Given the description of an element on the screen output the (x, y) to click on. 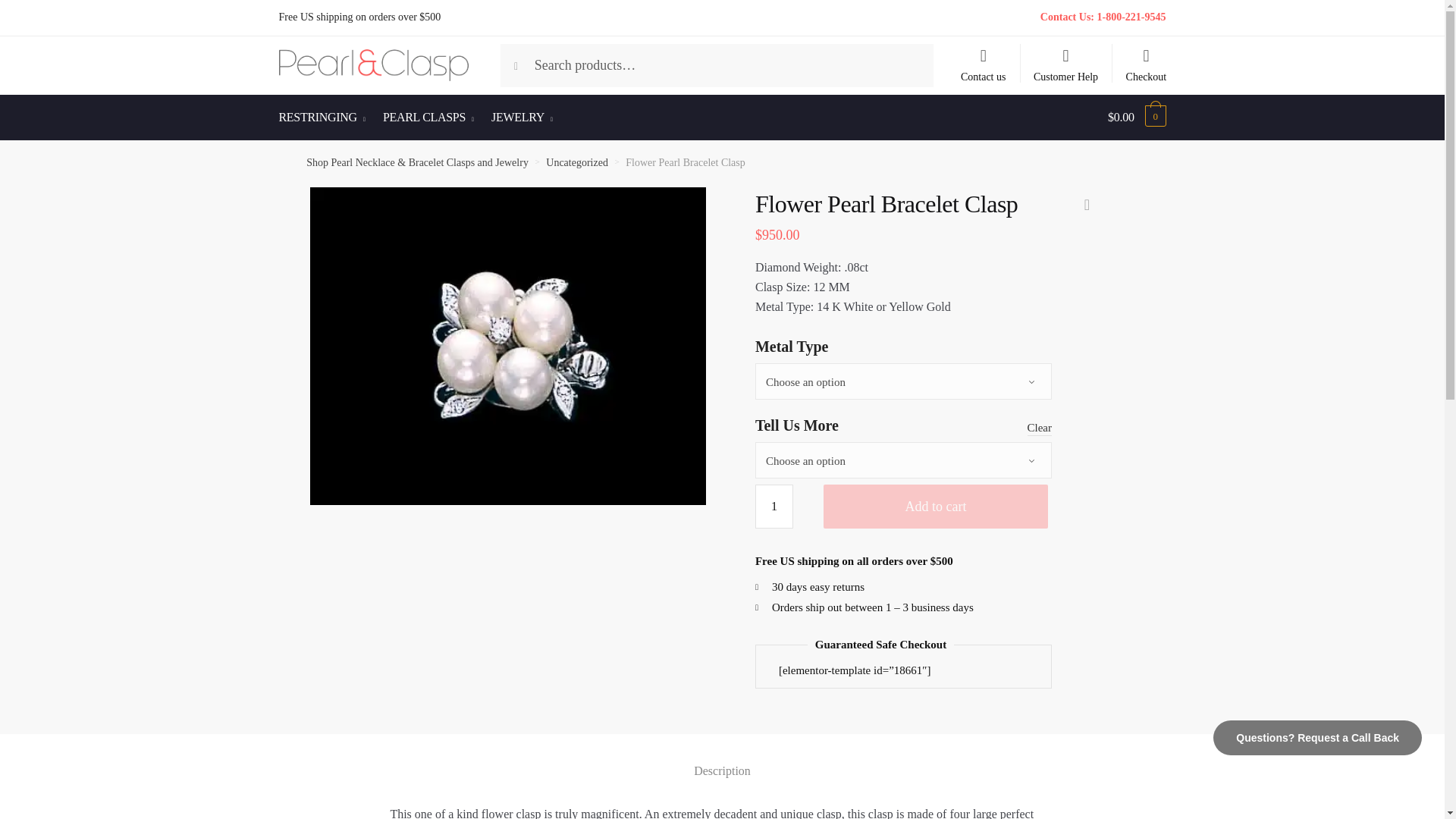
RESTRINGING (326, 117)
JEWELRY (521, 117)
View your shopping cart (1137, 117)
Customer Help (1066, 58)
Checkout (1145, 58)
PEARL CLASPS (427, 117)
Contact us (983, 58)
1-800-221-9545 (1131, 16)
Uncategorized (577, 162)
Flower Pearl Bracelet Clasp 1 (507, 346)
Search (531, 59)
